Given the description of an element on the screen output the (x, y) to click on. 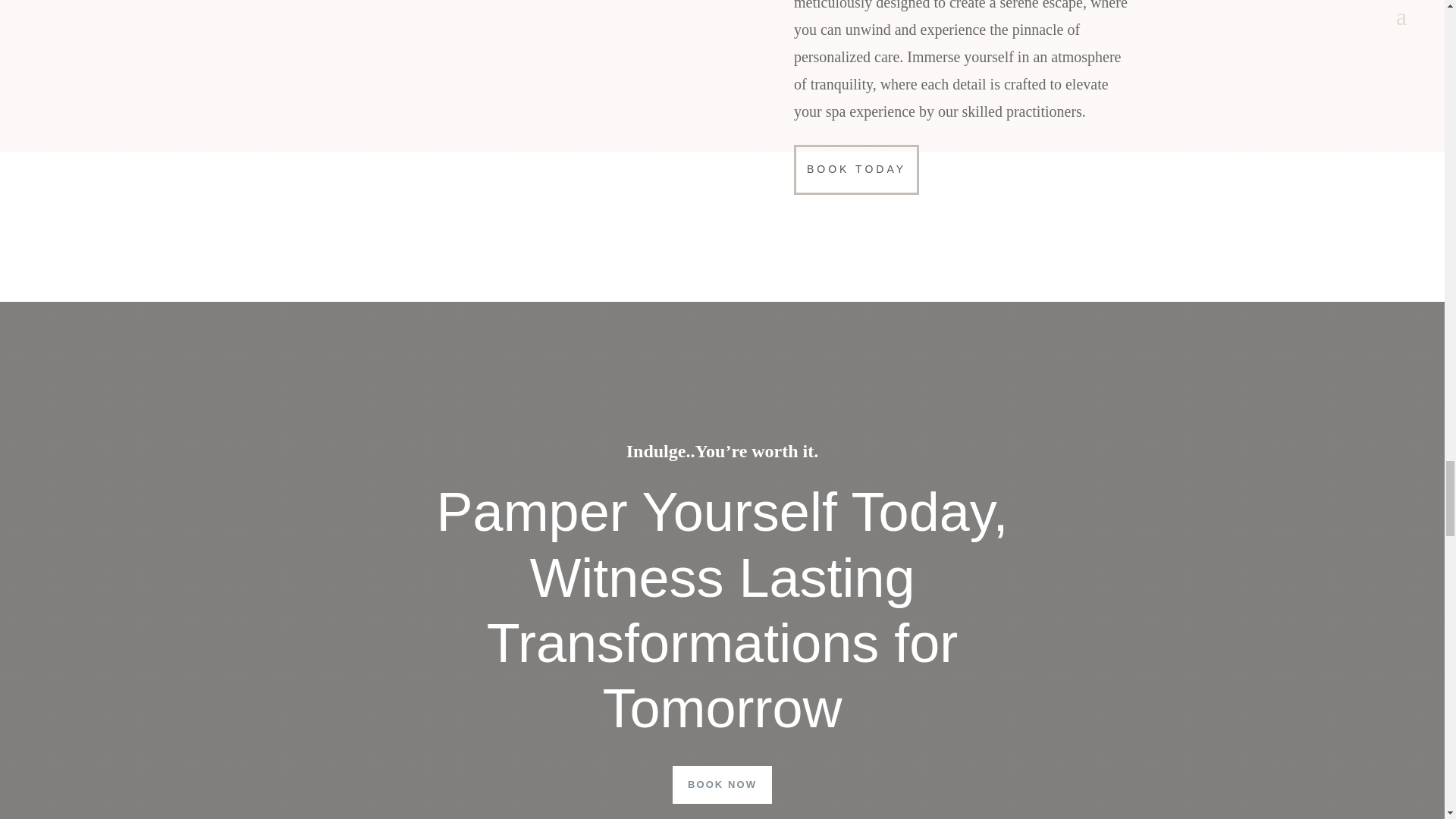
BOOK NOW (721, 784)
BOOK TODAY (855, 169)
